Given the description of an element on the screen output the (x, y) to click on. 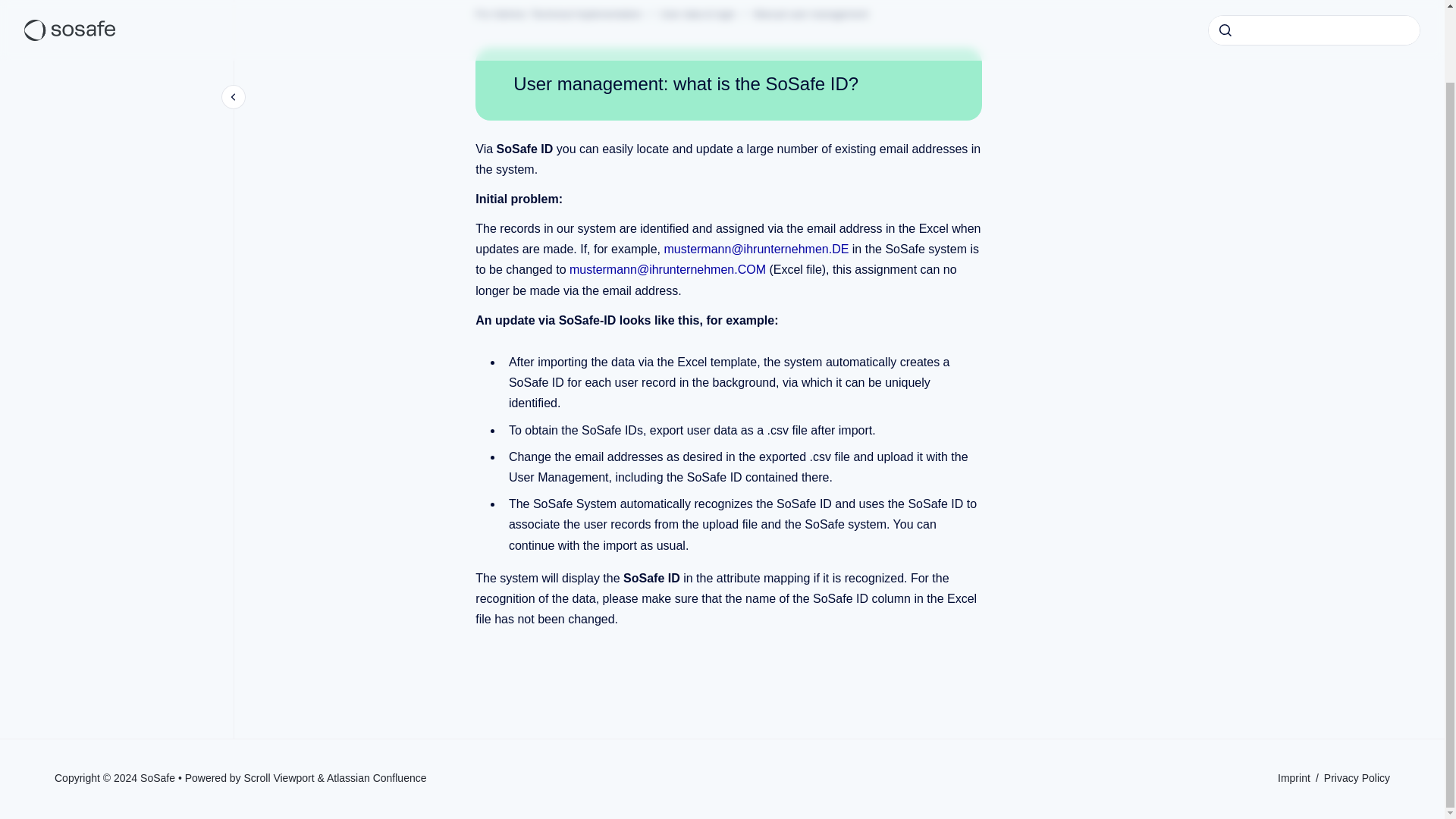
Imprint (1295, 777)
Atlassian Confluence (376, 777)
Privacy Policy (1356, 777)
Manual user management (810, 14)
For Admins: Technical Implementation (559, 14)
Scroll Viewport (280, 777)
